Given the description of an element on the screen output the (x, y) to click on. 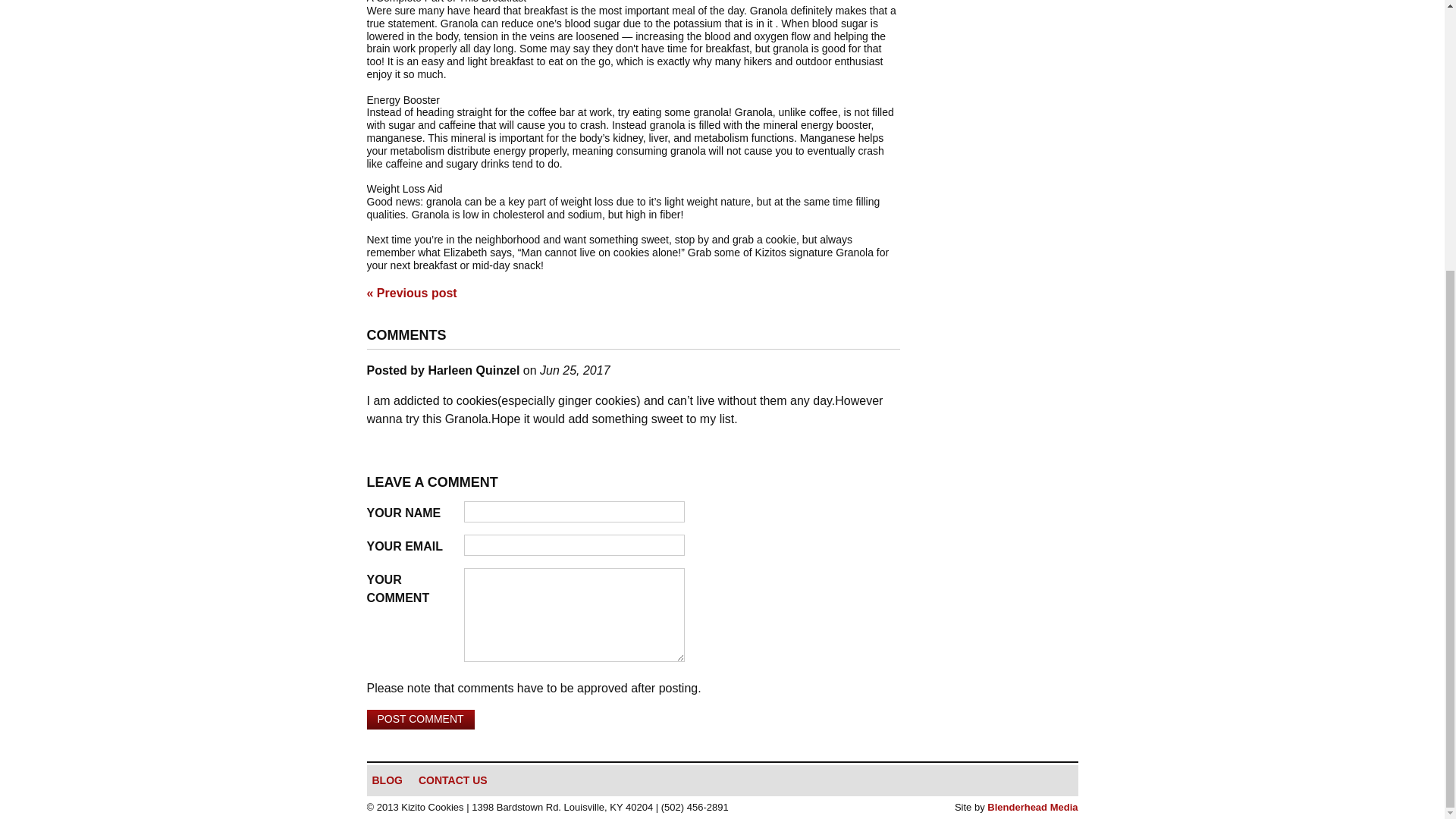
BLOG (394, 780)
CONTACT US (461, 780)
Blenderhead Media (1032, 806)
Post comment (420, 720)
Post comment (420, 720)
